Given the description of an element on the screen output the (x, y) to click on. 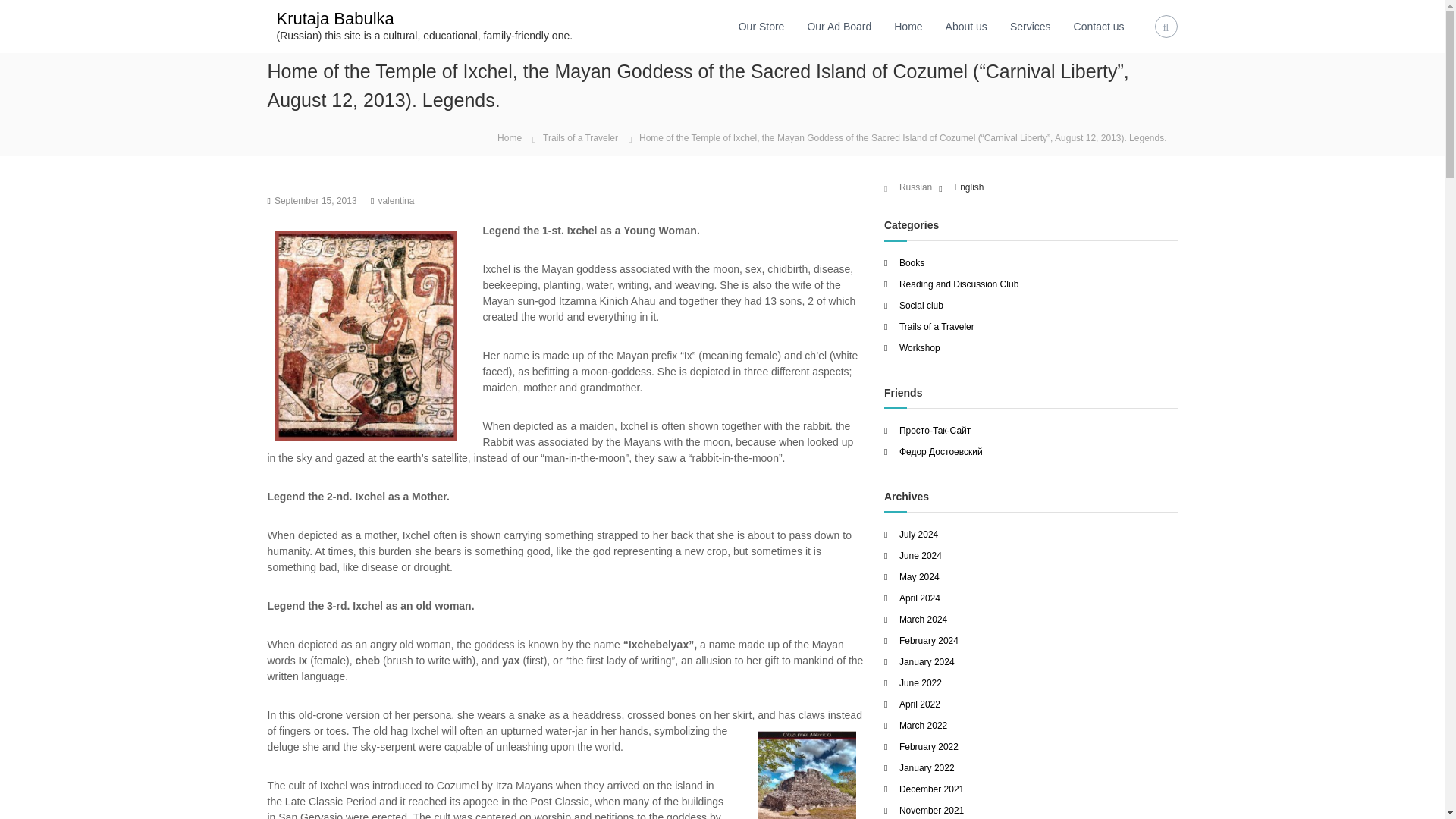
Krutaja Babulka (334, 18)
Trails of a Traveler (580, 137)
March 2024 (923, 619)
September 15, 2013 (315, 200)
April 2022 (919, 704)
valentina (395, 200)
February 2024 (928, 640)
March 2022 (923, 725)
April 2024 (919, 597)
January 2024 (927, 661)
February 2022 (928, 747)
July 2024 (918, 534)
Our Ad Board (838, 25)
Trails of a Traveler (936, 326)
Books (911, 262)
